Given the description of an element on the screen output the (x, y) to click on. 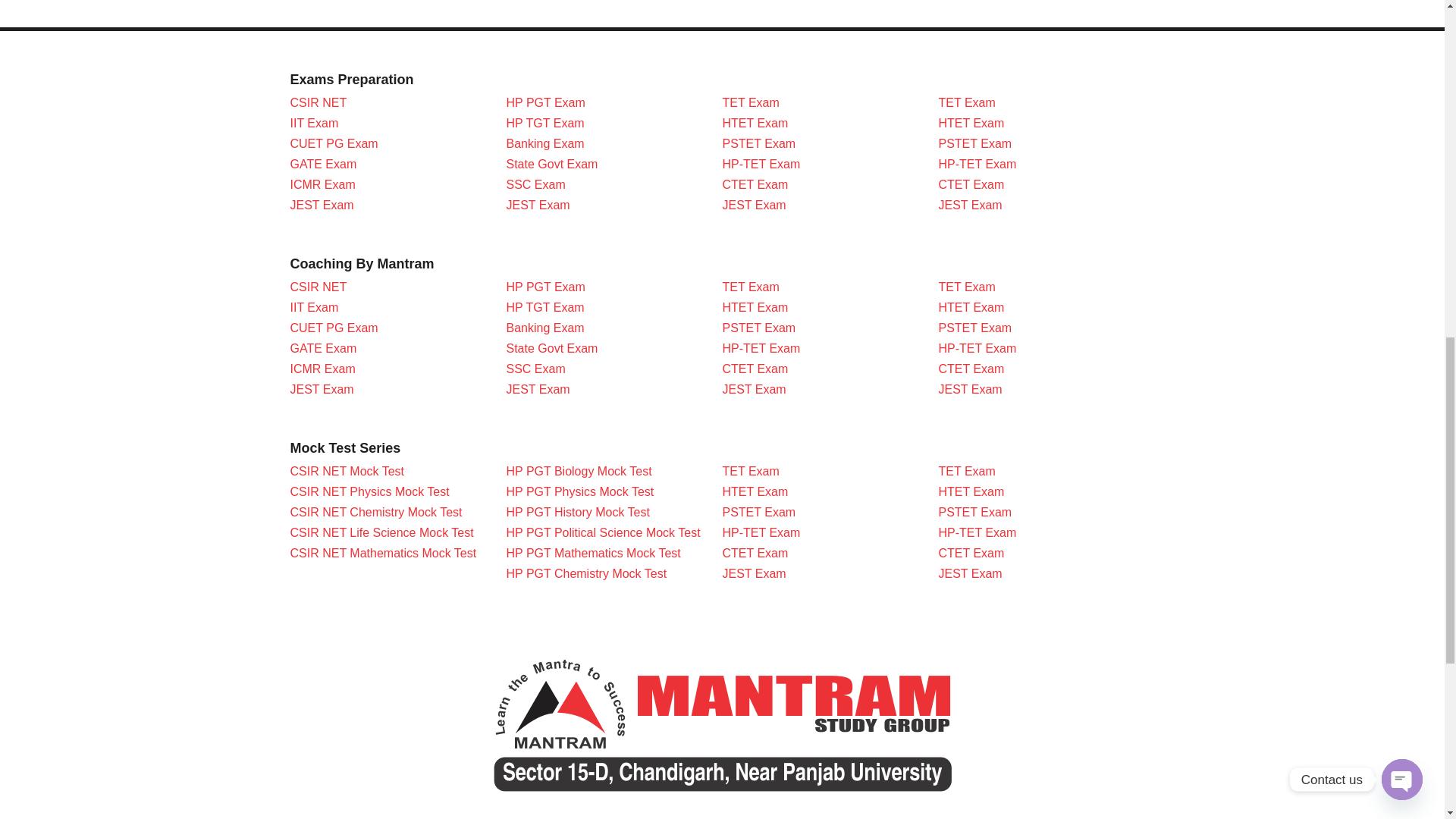
GATE Exam (322, 164)
IIT Exam (313, 123)
JEST Exam (321, 205)
CUET PG Exam (333, 327)
State Govt Exam (552, 164)
JEST Exam (538, 205)
HP-TET Exam (977, 164)
CSIR NET (317, 102)
HP TGT Exam (545, 123)
TET Exam (750, 102)
GATE Exam (322, 348)
PSTET Exam (758, 143)
CTET Exam (971, 184)
PSTET Exam (975, 143)
HP PGT Exam (545, 102)
